Given the description of an element on the screen output the (x, y) to click on. 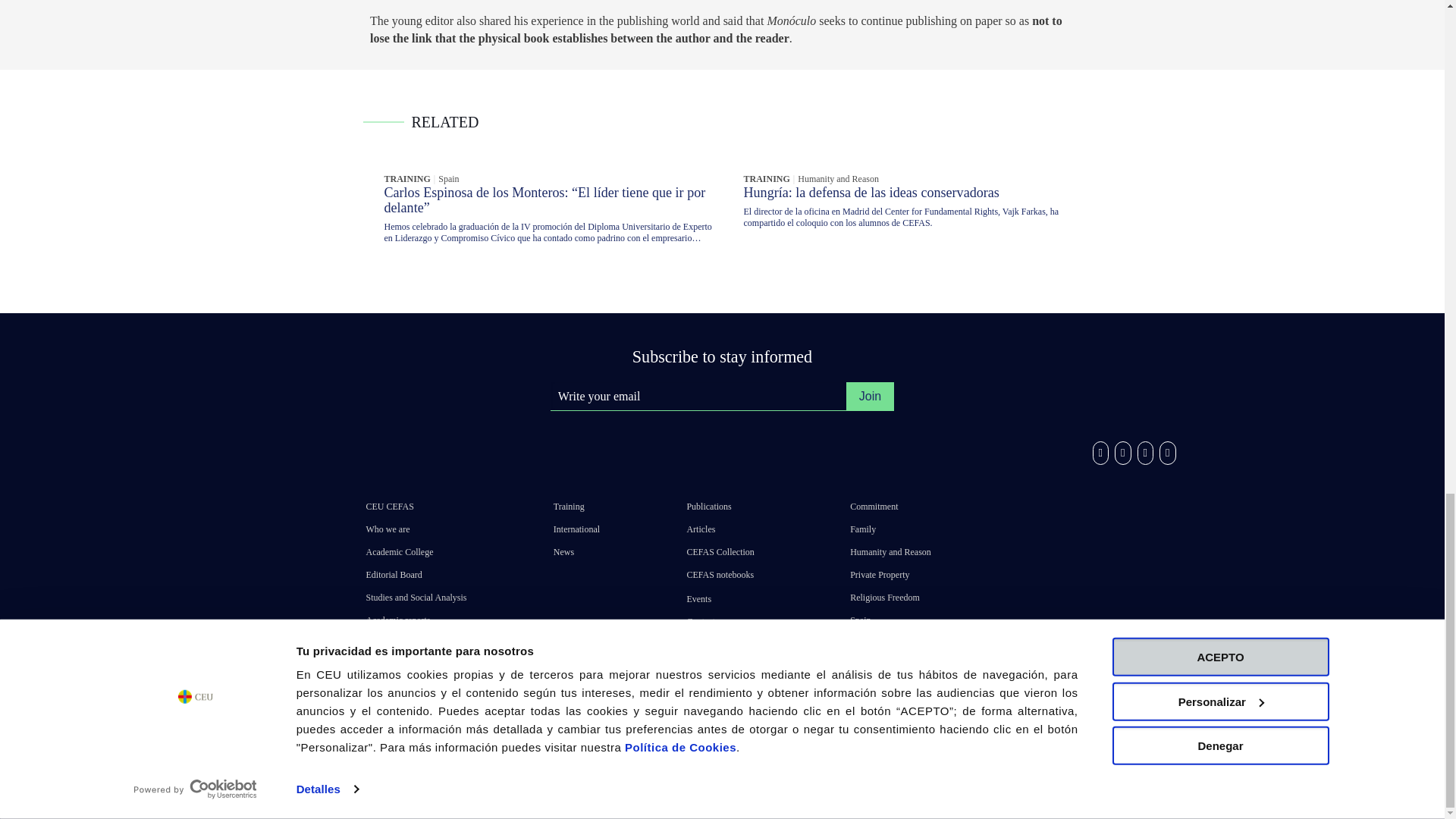
Join (869, 396)
